Given the description of an element on the screen output the (x, y) to click on. 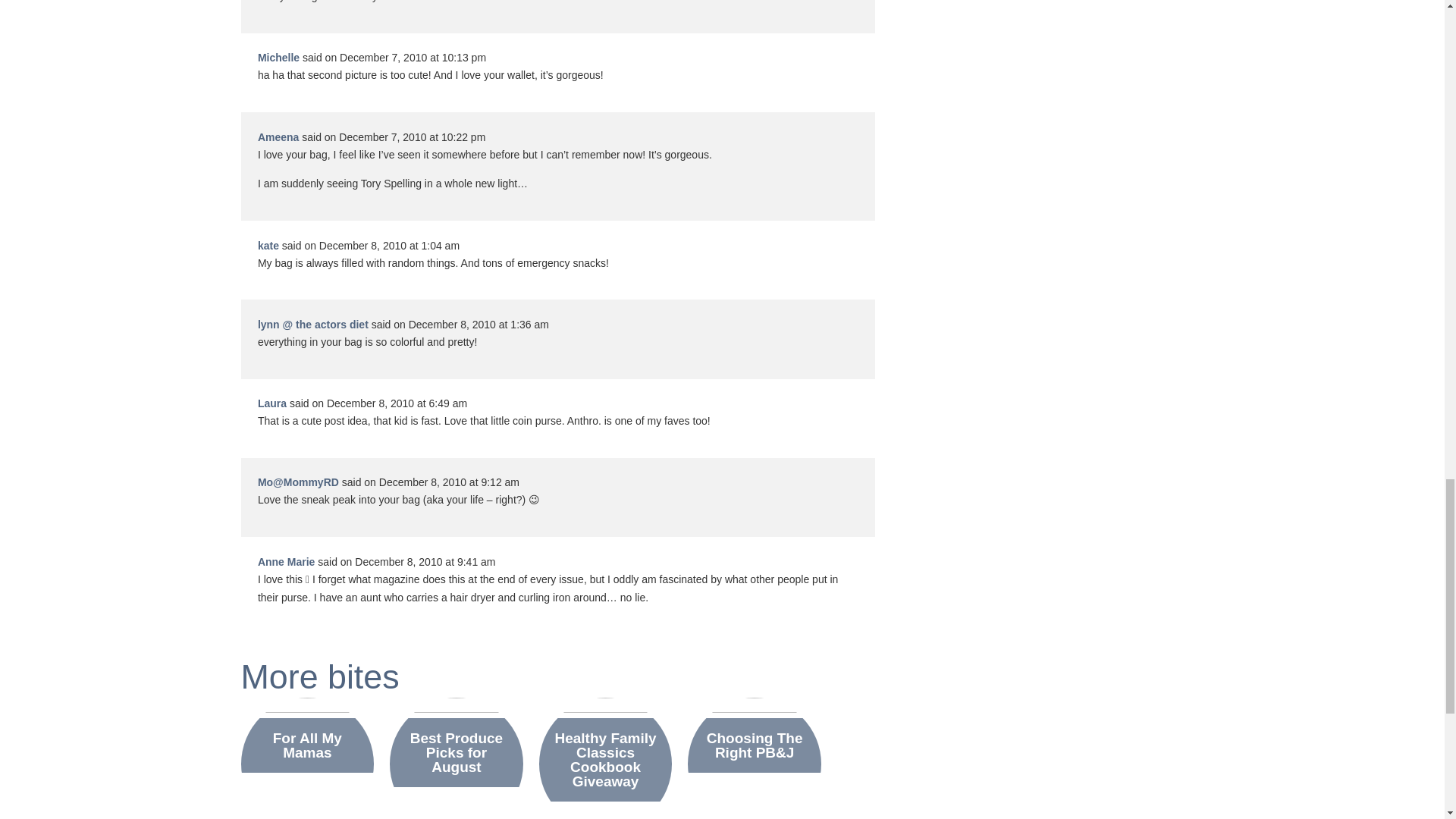
Michelle (278, 57)
kate (268, 245)
Anne Marie (285, 562)
Ameena (277, 137)
Laura (271, 403)
Best Produce Picks for August (457, 752)
For All My Mamas (307, 745)
Healthy Family Classics Cookbook Giveaway (605, 759)
